Given the description of an element on the screen output the (x, y) to click on. 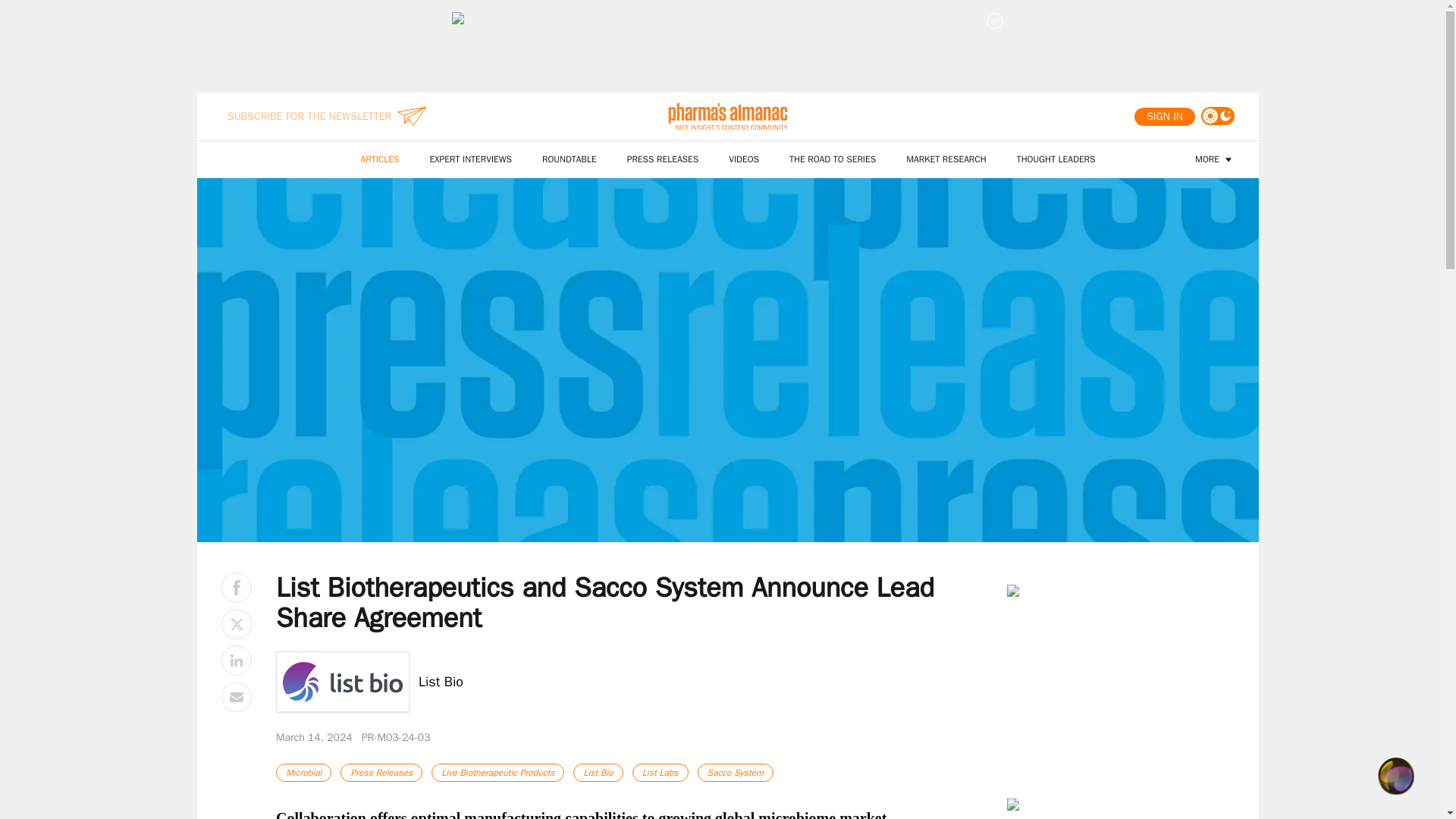
THOUGHT LEADERS (1056, 158)
List Bio (629, 681)
Sacco System (735, 772)
Live Biotherapeutic Products (497, 772)
List Bio (598, 772)
PRESS RELEASES (662, 158)
VIDEOS (743, 158)
ARTICLES (380, 158)
EXPERT INTERVIEWS (470, 158)
MORE (1214, 158)
SUBSCRIBE FOR THE NEWSLETTER (309, 116)
THE ROAD TO SERIES (832, 158)
ROUNDTABLE (568, 158)
Press Releases (381, 772)
SIGN IN (1164, 116)
